Given the description of an element on the screen output the (x, y) to click on. 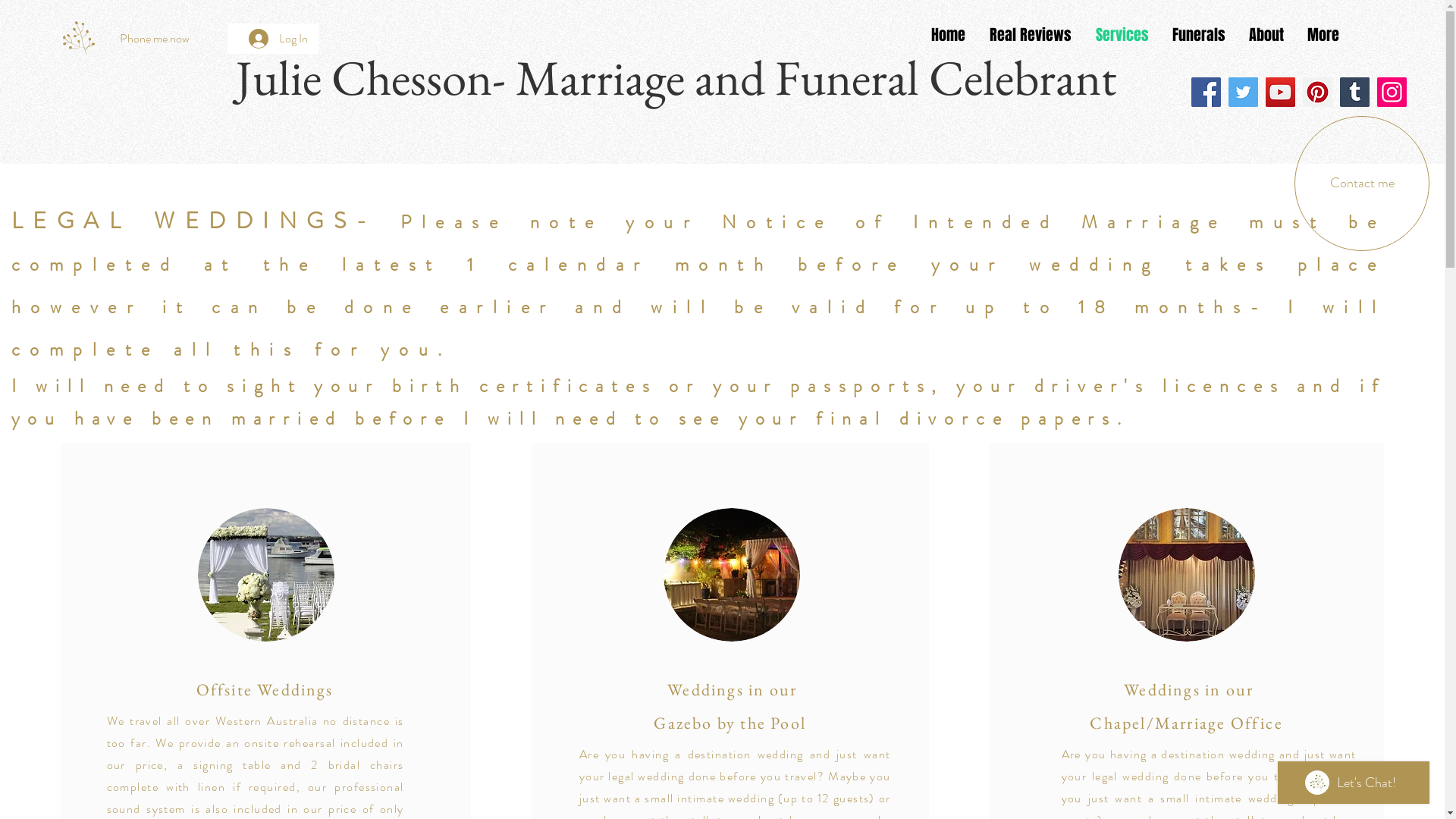
About Element type: text (1265, 34)
Log In Element type: text (278, 38)
Funerals Element type: text (1198, 34)
Phone me now Element type: text (154, 38)
Contact me Element type: text (1361, 183)
Home Element type: text (948, 34)
Services Element type: text (1121, 34)
Real Reviews Element type: text (1030, 34)
